Given the description of an element on the screen output the (x, y) to click on. 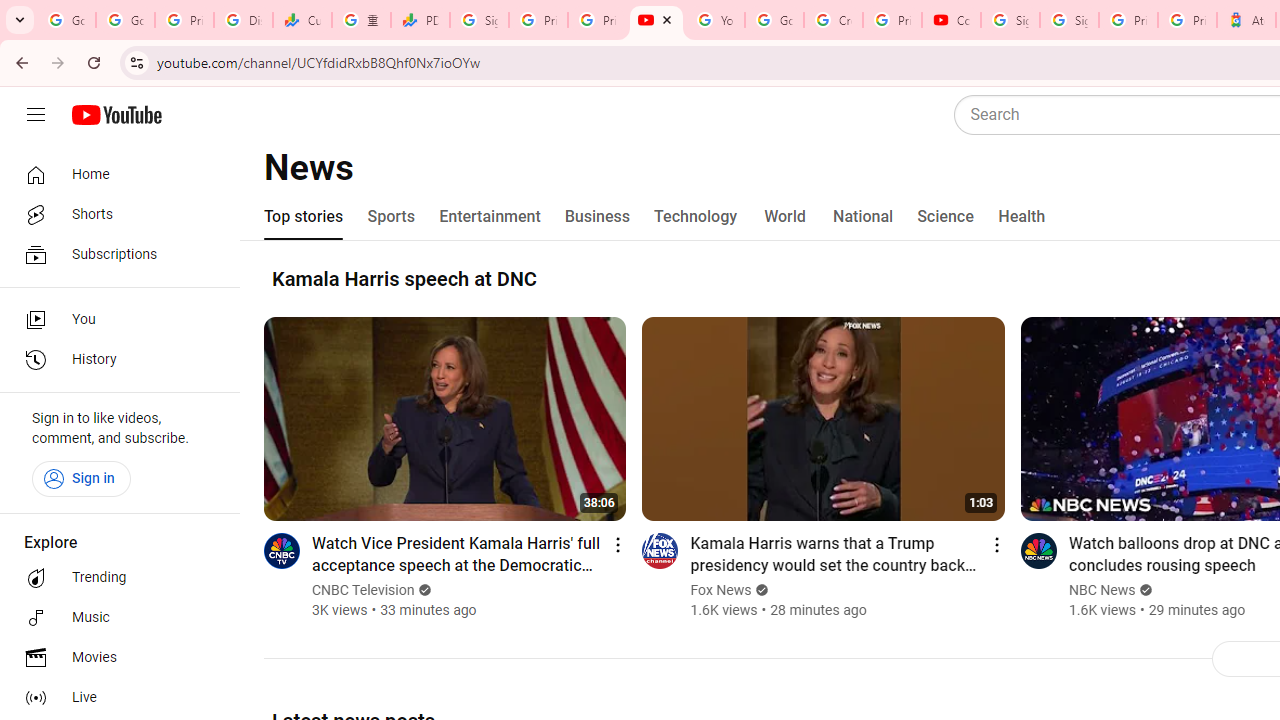
Shorts (113, 214)
Verified (1144, 590)
Live (113, 697)
Action menu (996, 544)
Guide (35, 115)
Movies (113, 657)
NBC News (1101, 590)
Sign in - Google Accounts (479, 20)
Top stories (303, 216)
Fox News (720, 590)
World (785, 216)
